Given the description of an element on the screen output the (x, y) to click on. 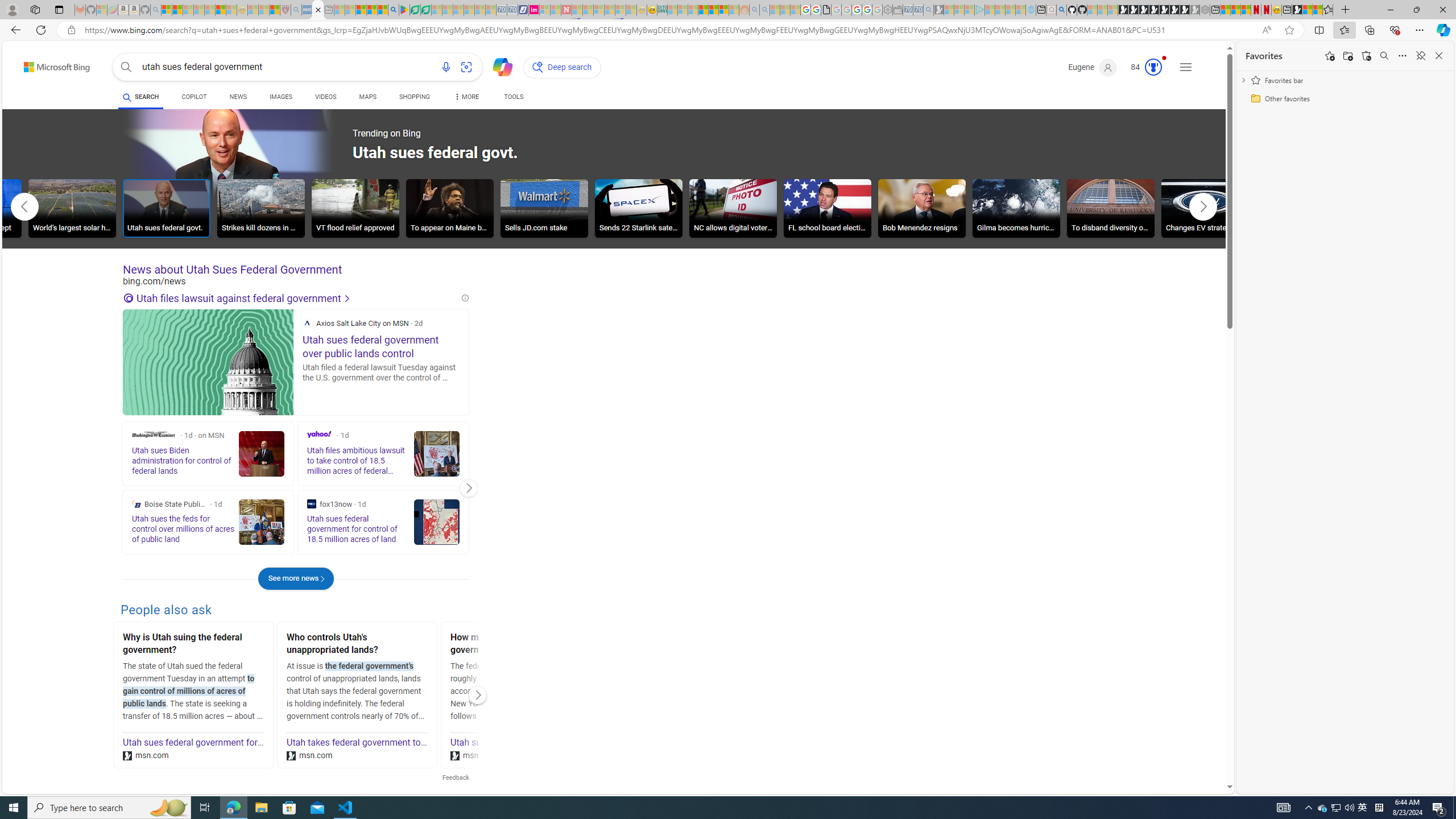
MORE (465, 98)
NEWS (237, 98)
AutomationID: tob_right_arrow (1203, 206)
